Given the description of an element on the screen output the (x, y) to click on. 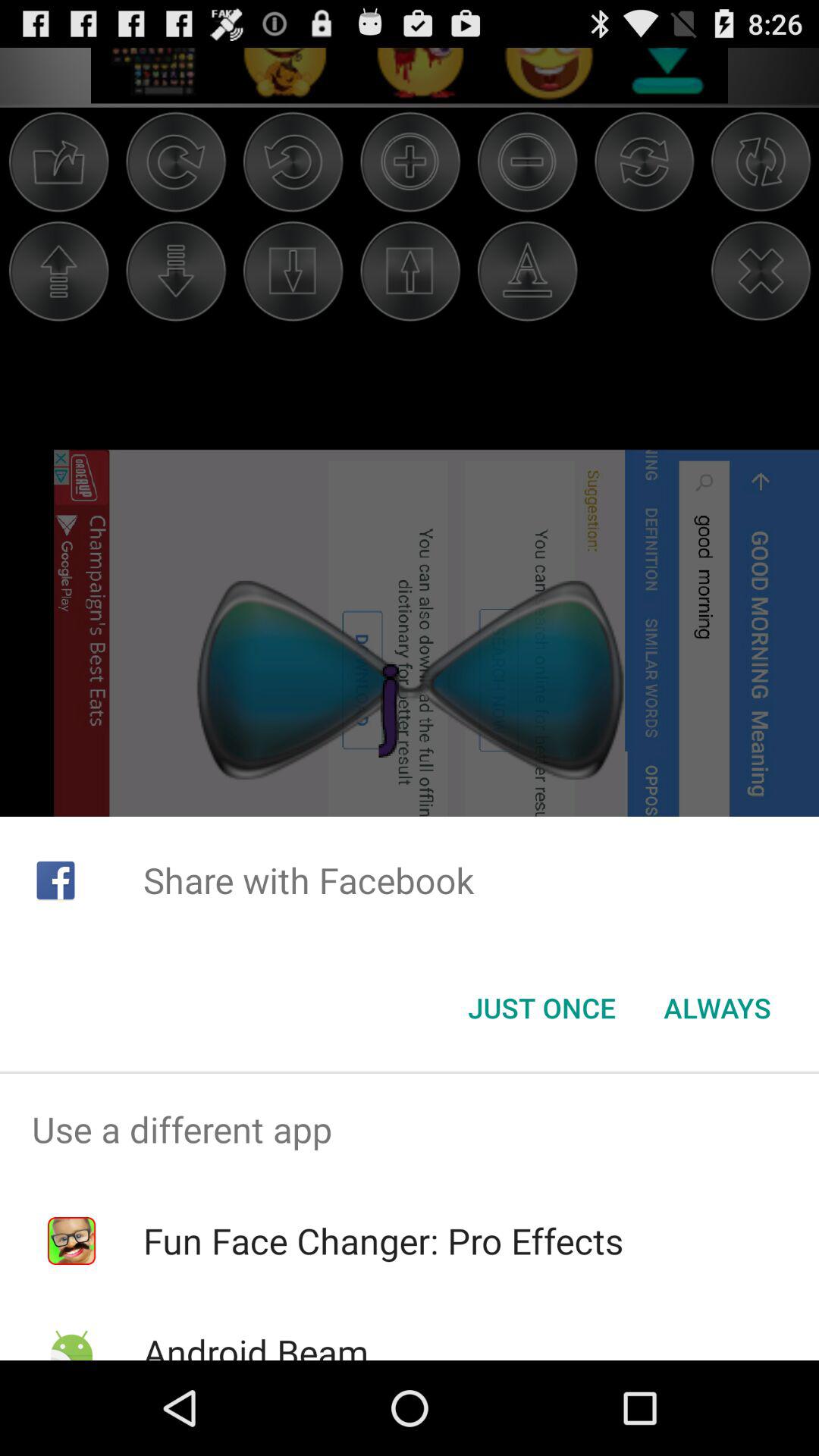
turn on use a different icon (409, 1129)
